Given the description of an element on the screen output the (x, y) to click on. 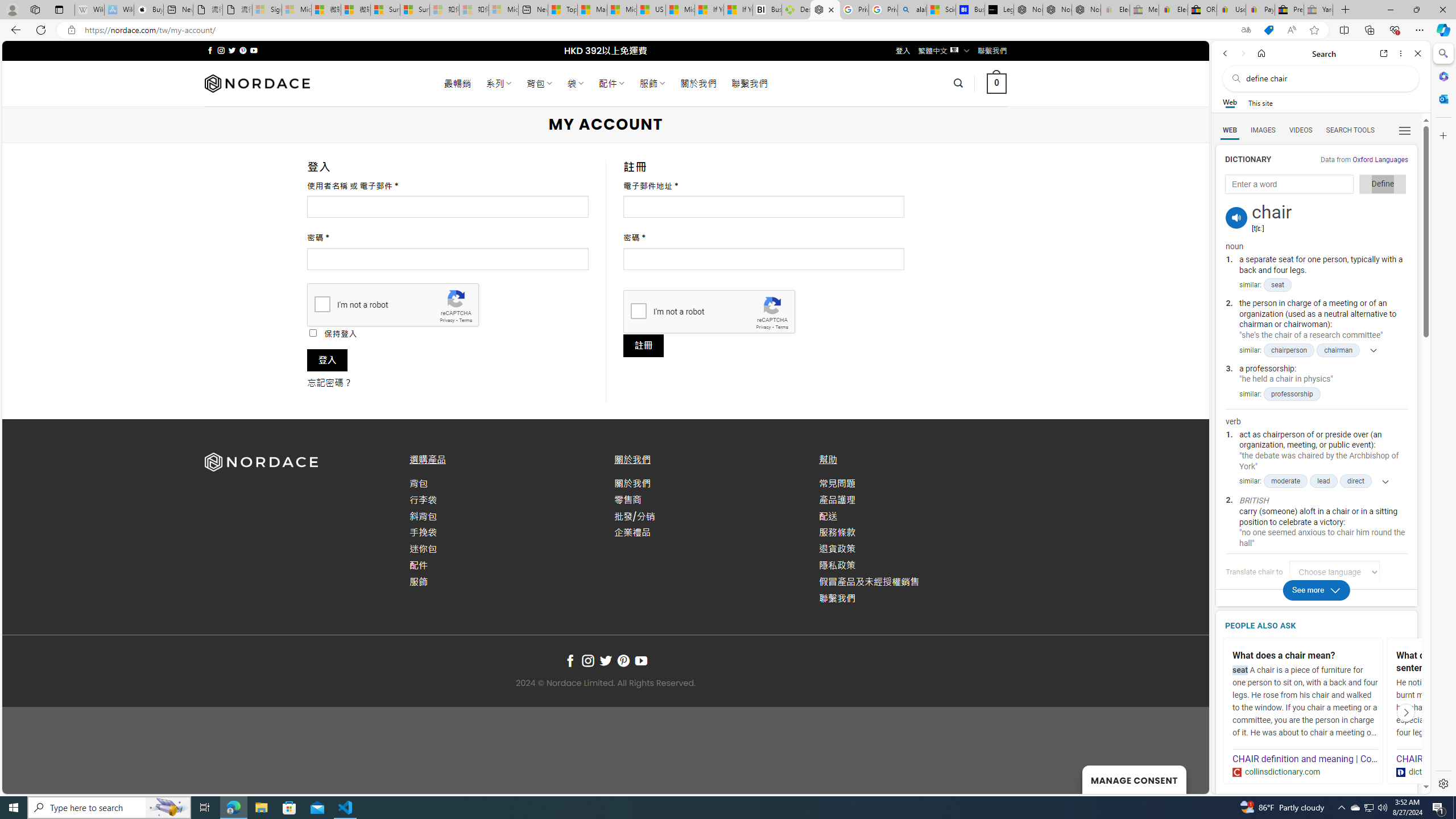
WEB   (1230, 130)
This site has coupons! Shopping in Microsoft Edge (1268, 29)
Translate chair to Choose language (1335, 572)
